Given the description of an element on the screen output the (x, y) to click on. 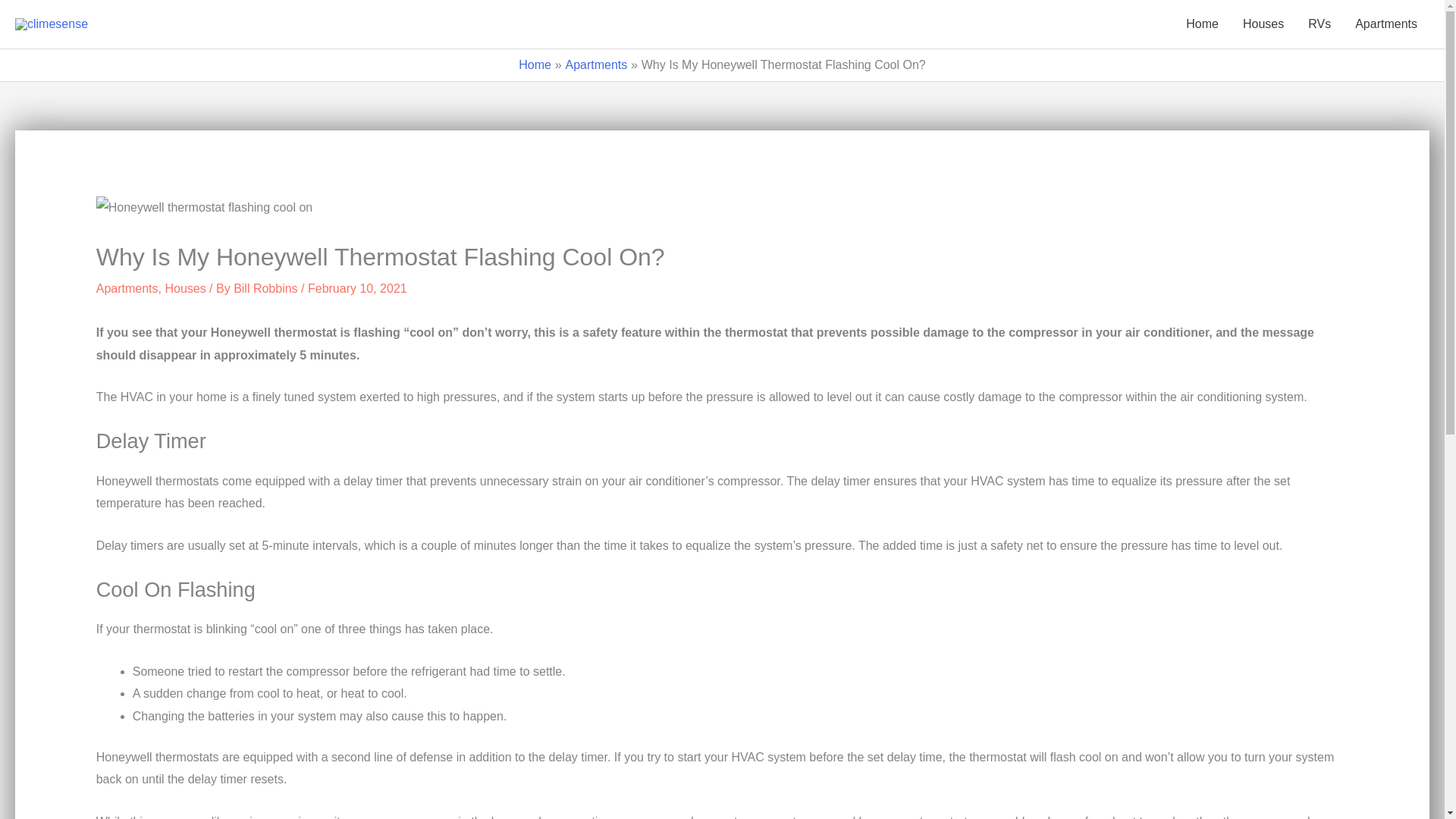
Home (534, 64)
Apartments (1385, 24)
RVs (1318, 24)
Houses (184, 287)
View all posts by Bill Robbins (264, 287)
Home (1201, 24)
Houses (1262, 24)
Bill Robbins (264, 287)
Apartments (127, 287)
Apartments (595, 64)
